Given the description of an element on the screen output the (x, y) to click on. 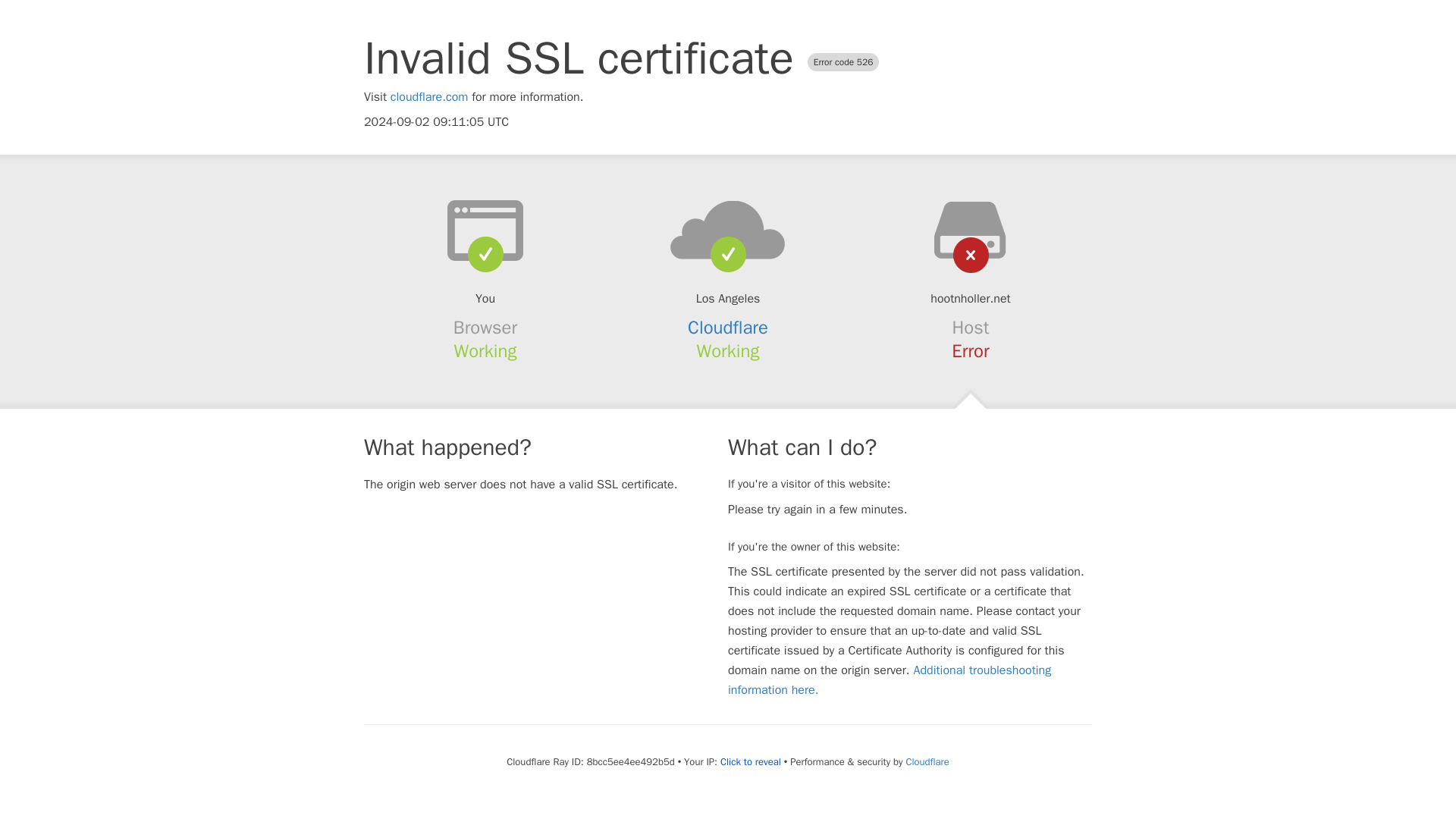
Cloudflare (927, 761)
Additional troubleshooting information here. (889, 679)
cloudflare.com (429, 96)
Click to reveal (750, 762)
Cloudflare (727, 327)
